Given the description of an element on the screen output the (x, y) to click on. 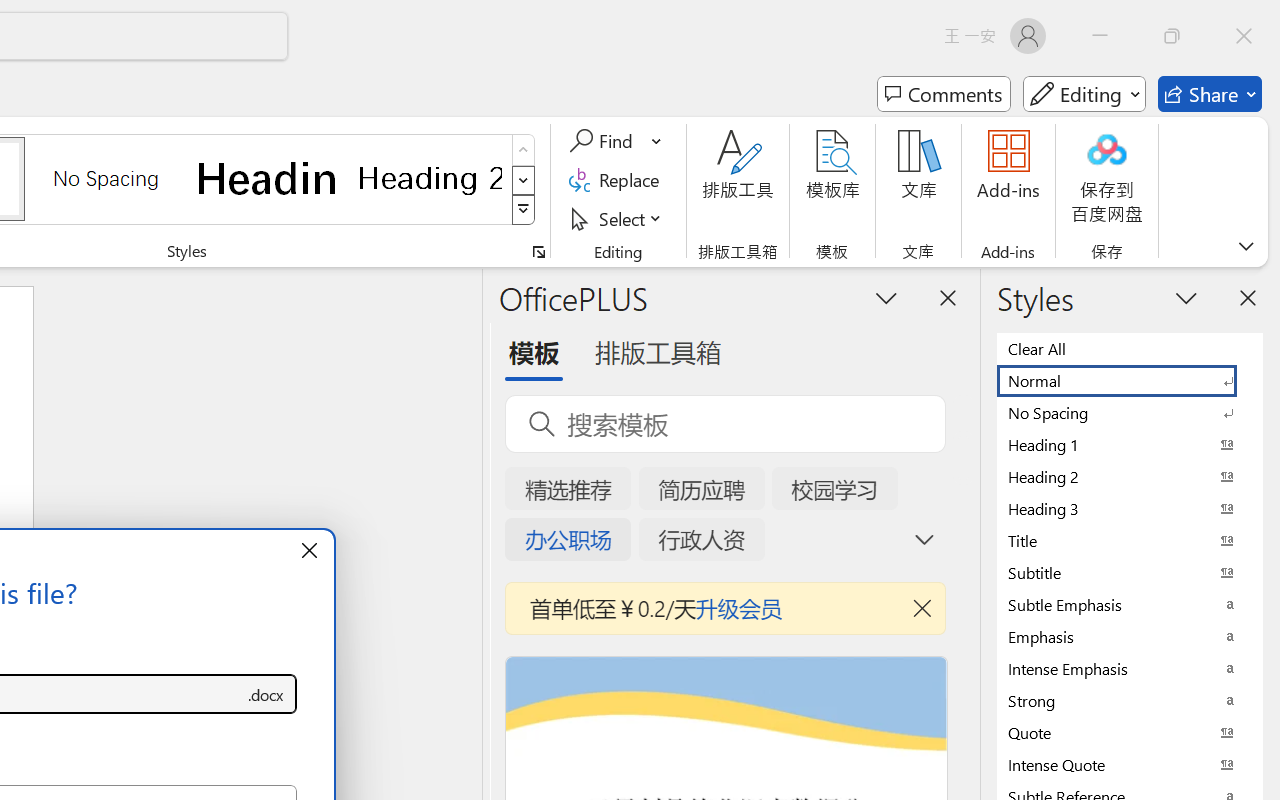
Comments (943, 94)
Minimize (1099, 36)
Class: NetUIImage (523, 210)
Subtitle (1130, 572)
Quote (1130, 732)
Task Pane Options (886, 297)
Normal (1130, 380)
Save as type (265, 694)
